Given the description of an element on the screen output the (x, y) to click on. 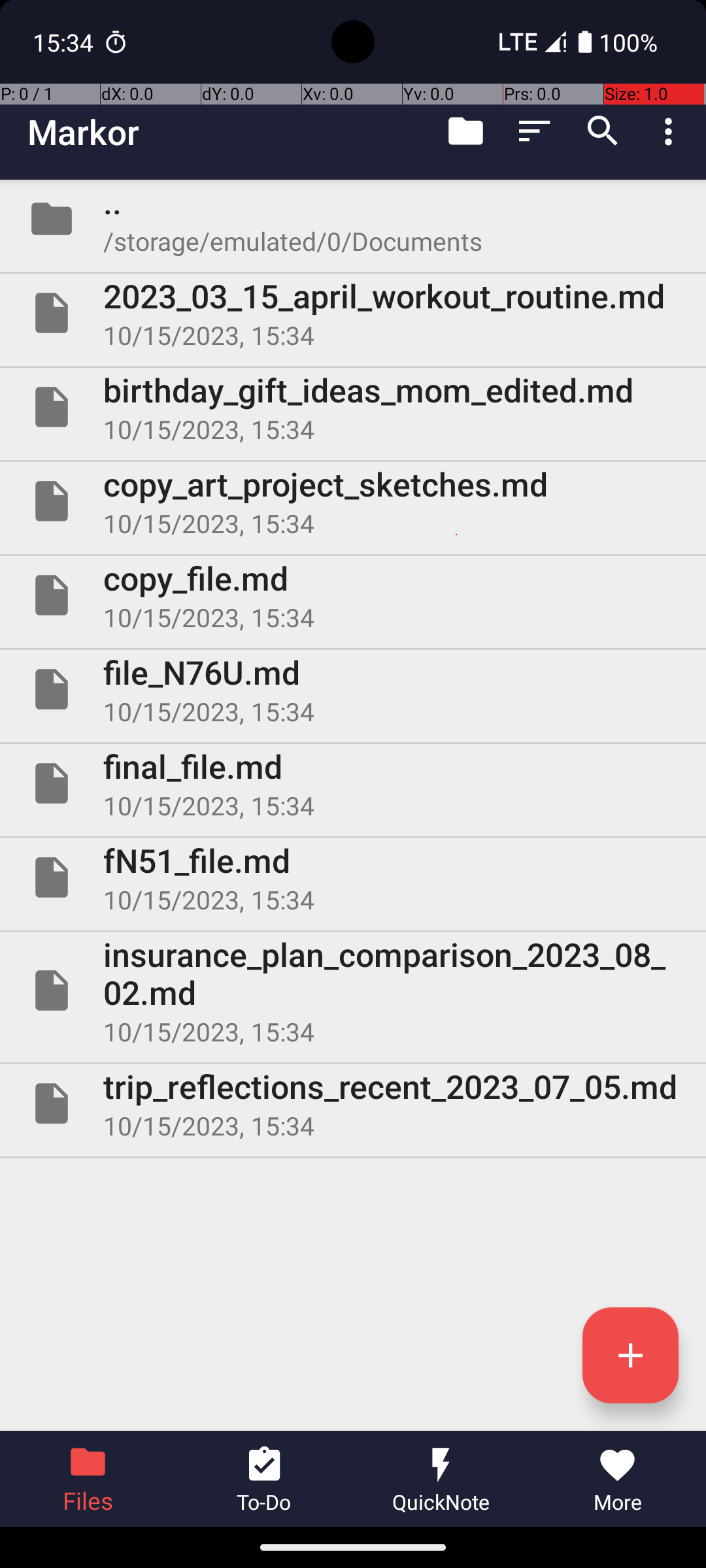
File 2023_03_15_april_workout_routine.md  Element type: android.widget.LinearLayout (353, 312)
File birthday_gift_ideas_mom_edited.md  Element type: android.widget.LinearLayout (353, 406)
File copy_art_project_sketches.md  Element type: android.widget.LinearLayout (353, 500)
File copy_file.md  Element type: android.widget.LinearLayout (353, 594)
File file_N76U.md  Element type: android.widget.LinearLayout (353, 689)
File final_file.md  Element type: android.widget.LinearLayout (353, 783)
File fN51_file.md  Element type: android.widget.LinearLayout (353, 877)
File insurance_plan_comparison_2023_08_02.md  Element type: android.widget.LinearLayout (353, 990)
File trip_reflections_recent_2023_07_05.md  Element type: android.widget.LinearLayout (353, 1103)
